Given the description of an element on the screen output the (x, y) to click on. 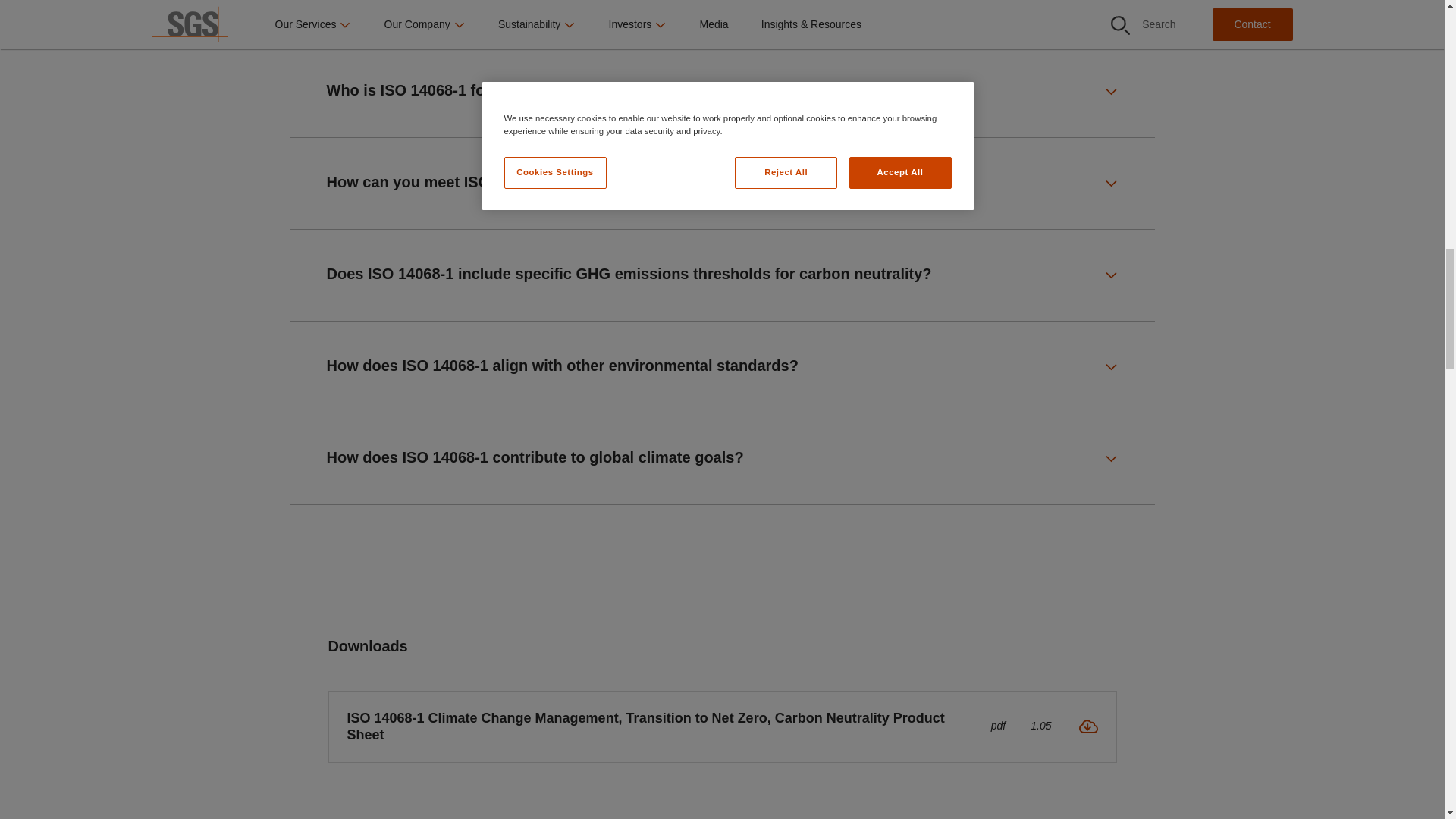
How does ISO 14068-1 contribute to global climate goals? (721, 458)
Who is ISO 14068-1 for? (721, 91)
How can you meet ISO 14068-1 requirements? (721, 183)
